Given the description of an element on the screen output the (x, y) to click on. 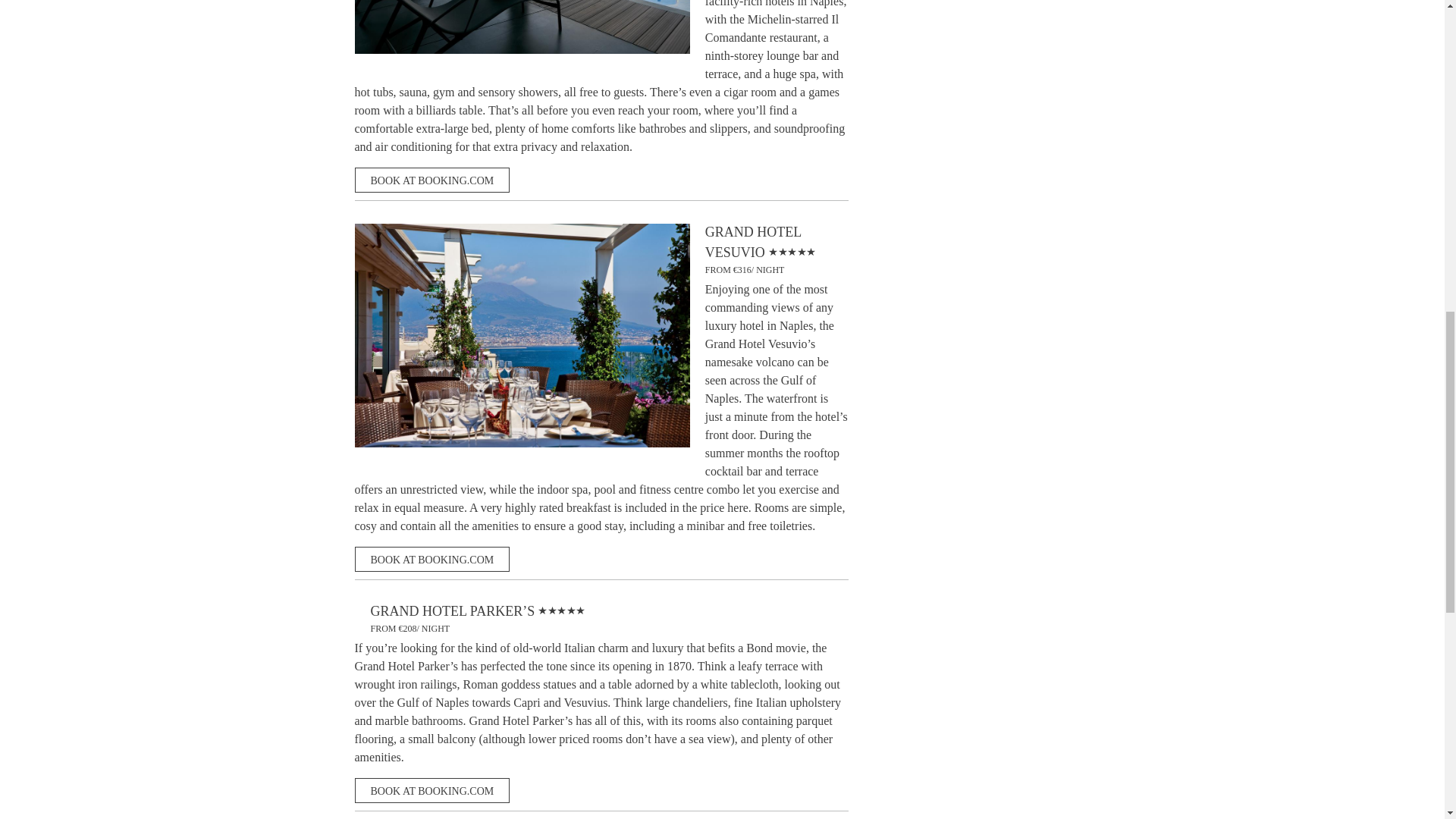
BOOK AT BOOKING.COM (433, 790)
BOOK AT BOOKING.COM (433, 179)
BOOK AT BOOKING.COM (433, 559)
